Given the description of an element on the screen output the (x, y) to click on. 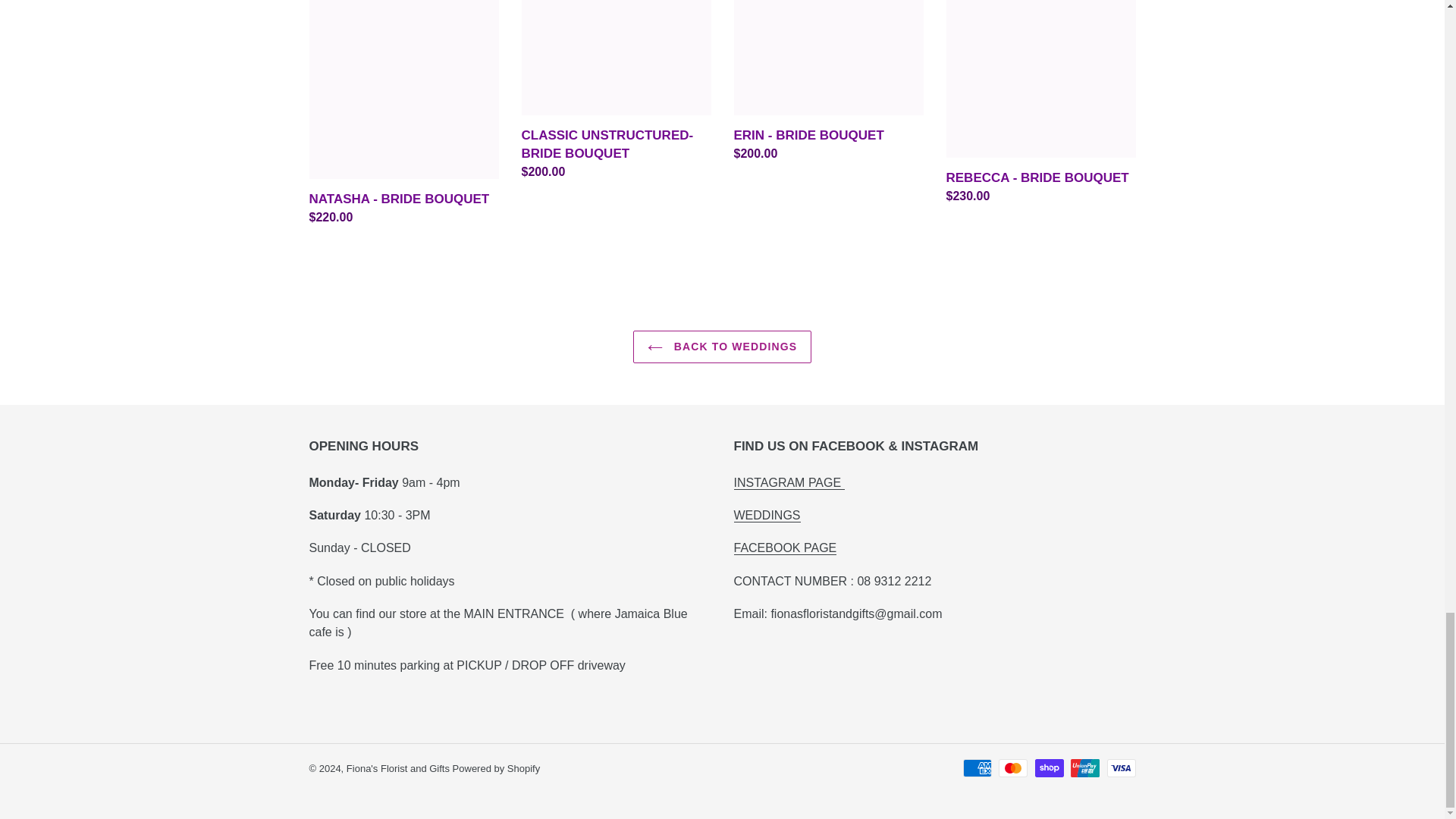
REBECCA - BRIDE BOUQUET (1040, 102)
CLASSIC UNSTRUCTURED- BRIDE BOUQUET (616, 90)
BACK TO WEDDINGS (721, 346)
ERIN - BRIDE BOUQUET (828, 81)
